Given the description of an element on the screen output the (x, y) to click on. 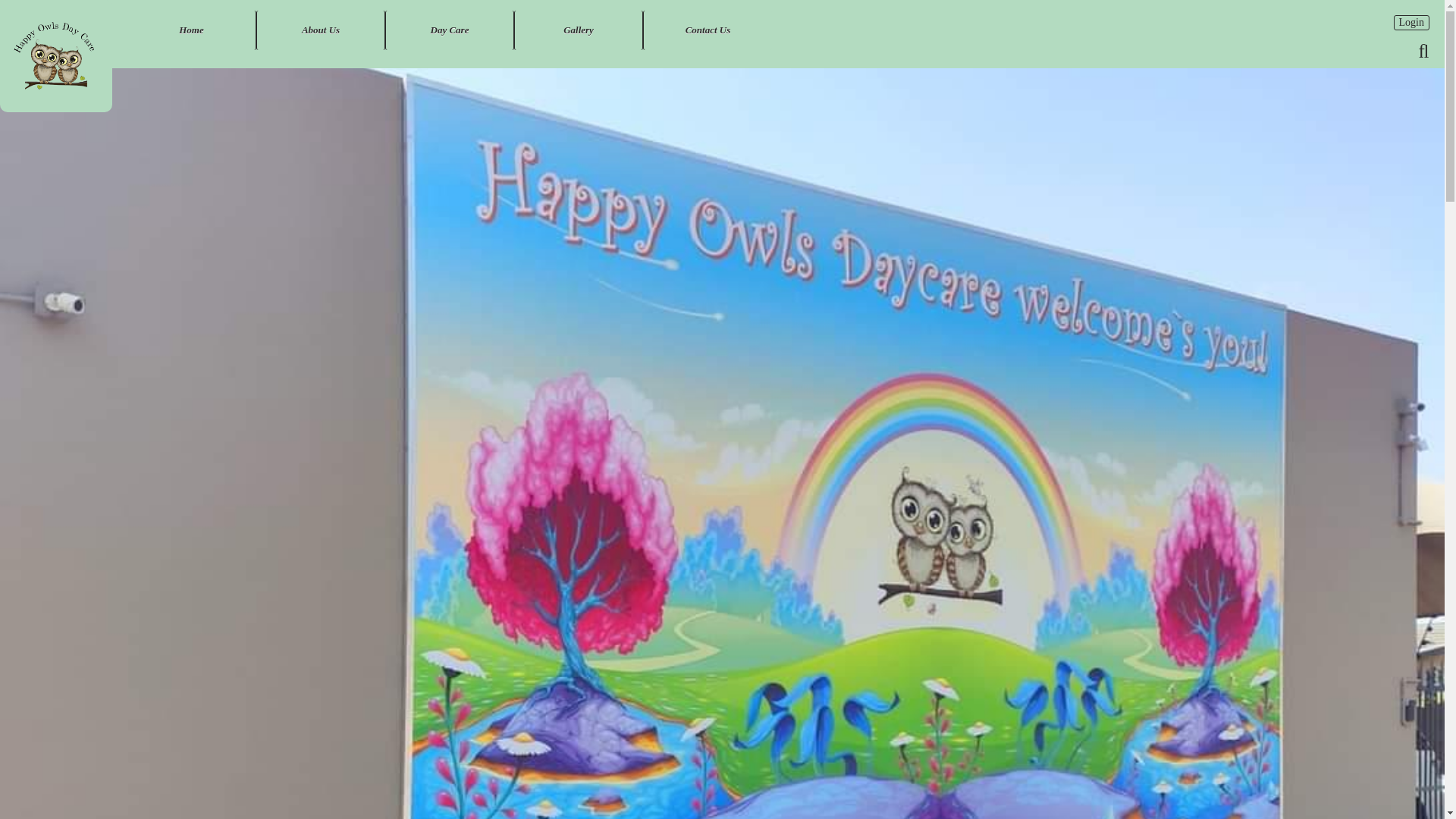
About Us (320, 29)
Gallery (578, 29)
Day Care (449, 29)
Contact Us (707, 29)
Home (192, 29)
Login (1411, 22)
